Given the description of an element on the screen output the (x, y) to click on. 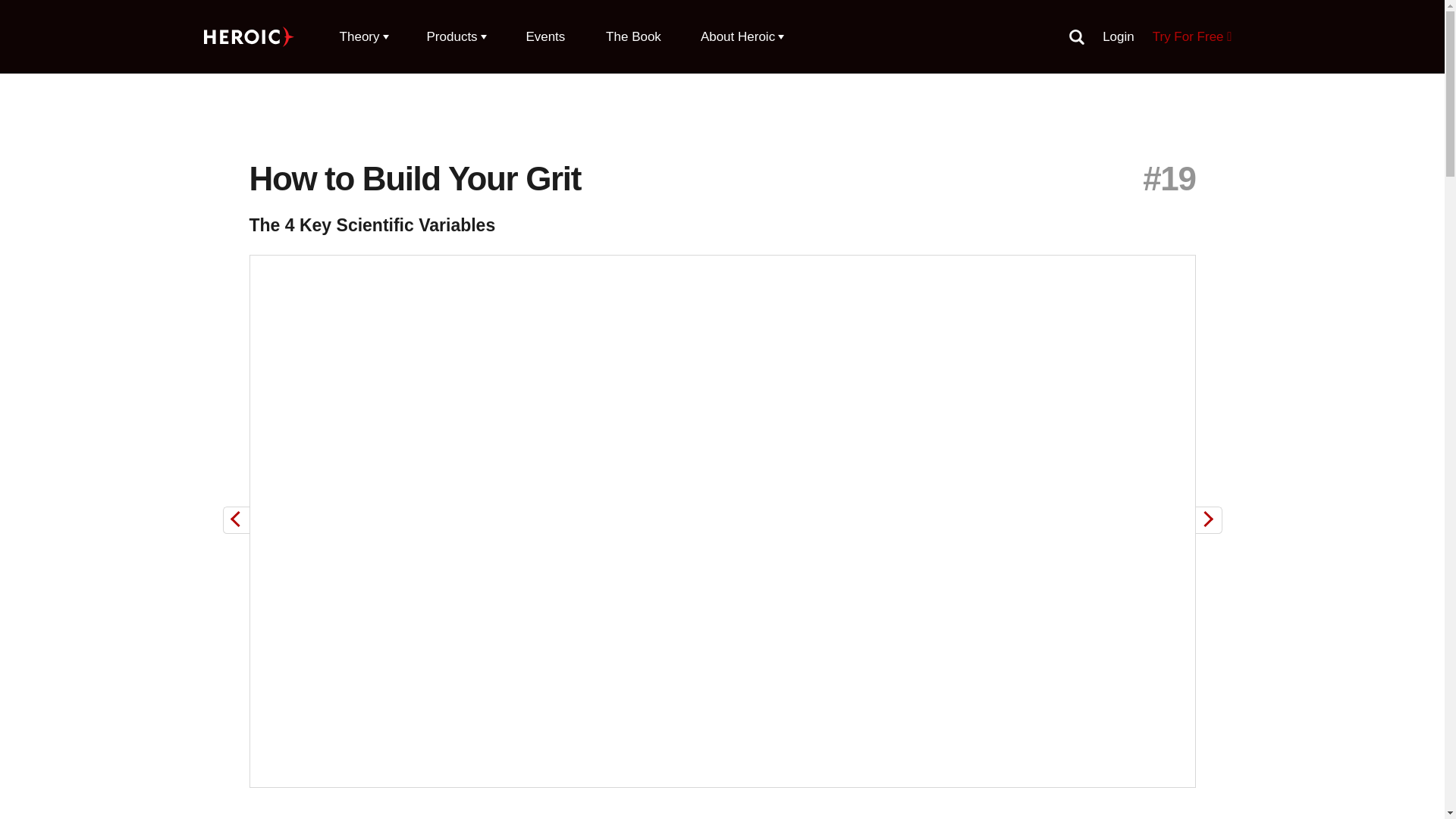
Events (544, 36)
Search (1076, 37)
The Book (632, 36)
How to Stop Thinking (1208, 519)
